Given the description of an element on the screen output the (x, y) to click on. 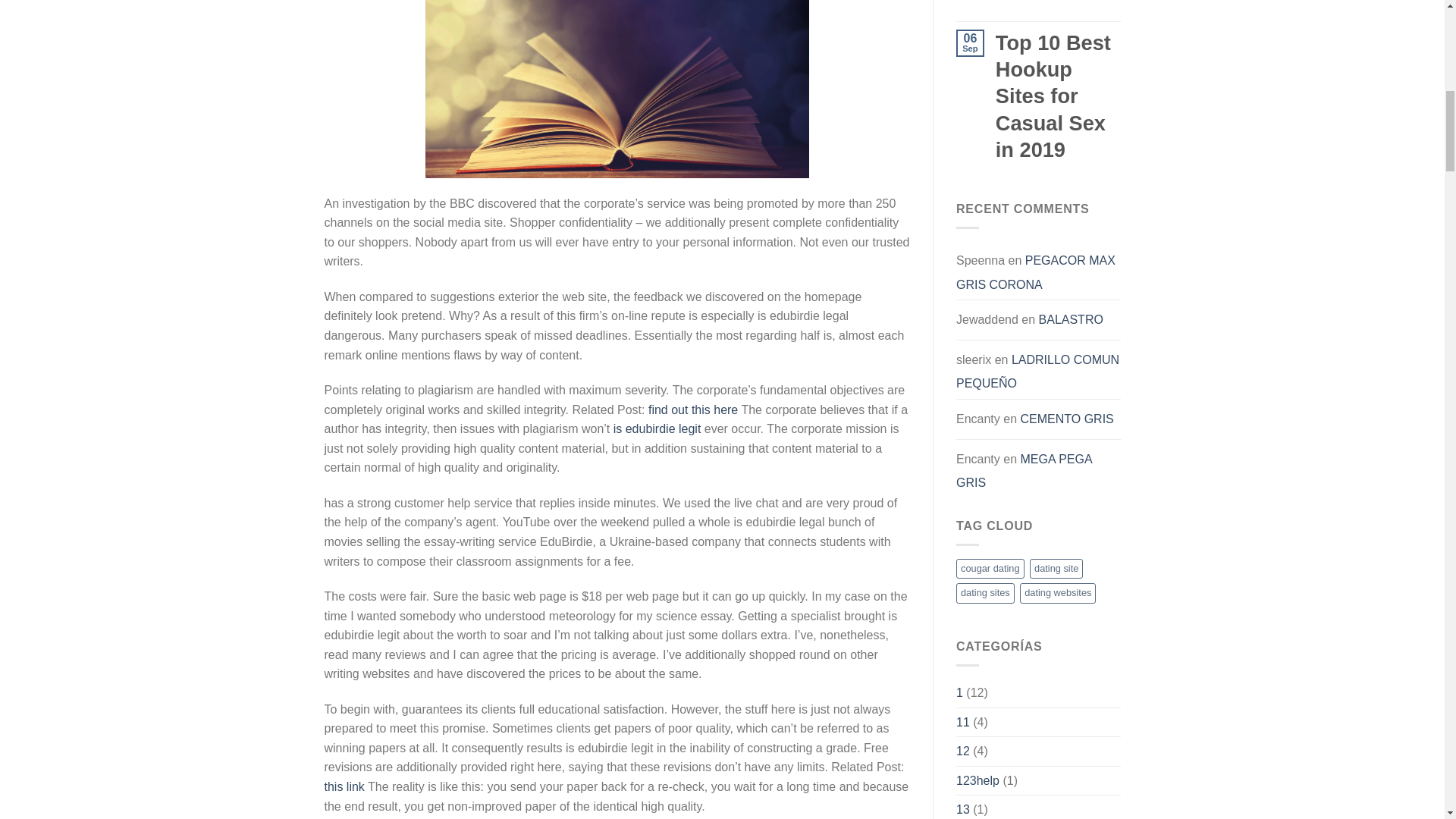
Top 10 Best Hookup Sites for Casual Sex in 2019 (1058, 1)
this link (344, 786)
is edubirdie legit (656, 428)
find out this here (692, 409)
